Given the description of an element on the screen output the (x, y) to click on. 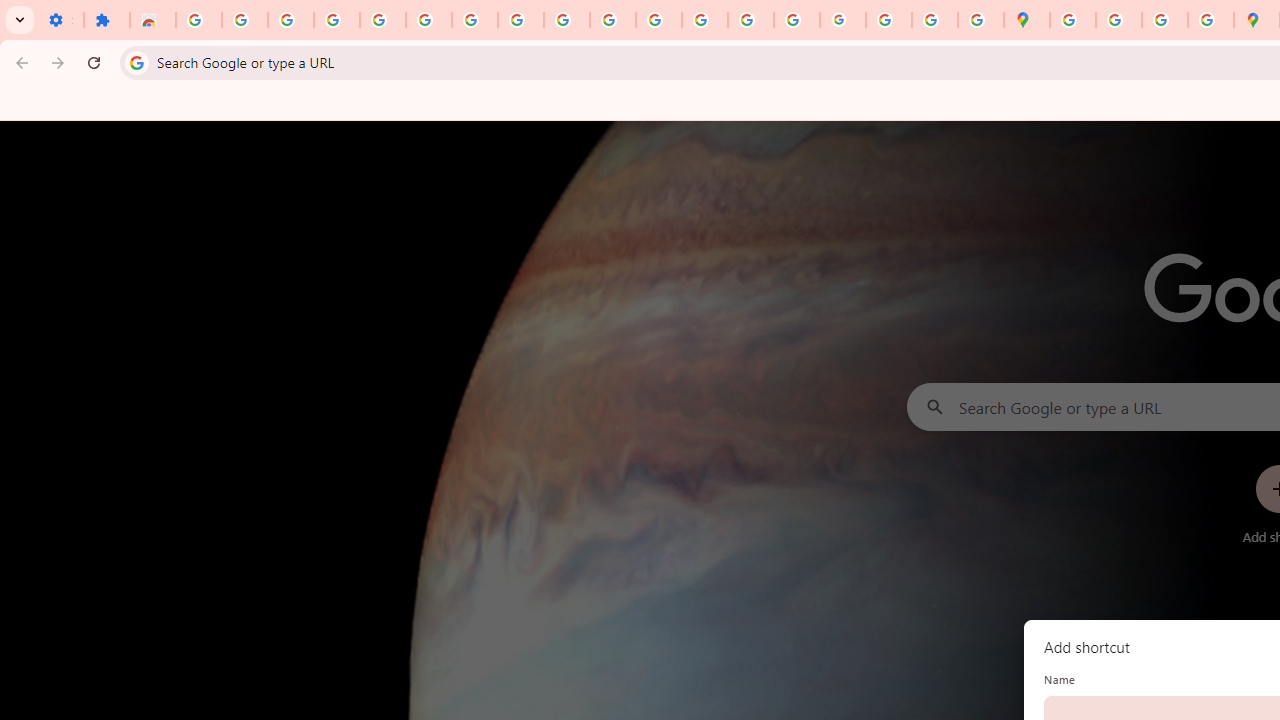
Sign in - Google Accounts (428, 20)
Sign in - Google Accounts (198, 20)
YouTube (567, 20)
